Given the description of an element on the screen output the (x, y) to click on. 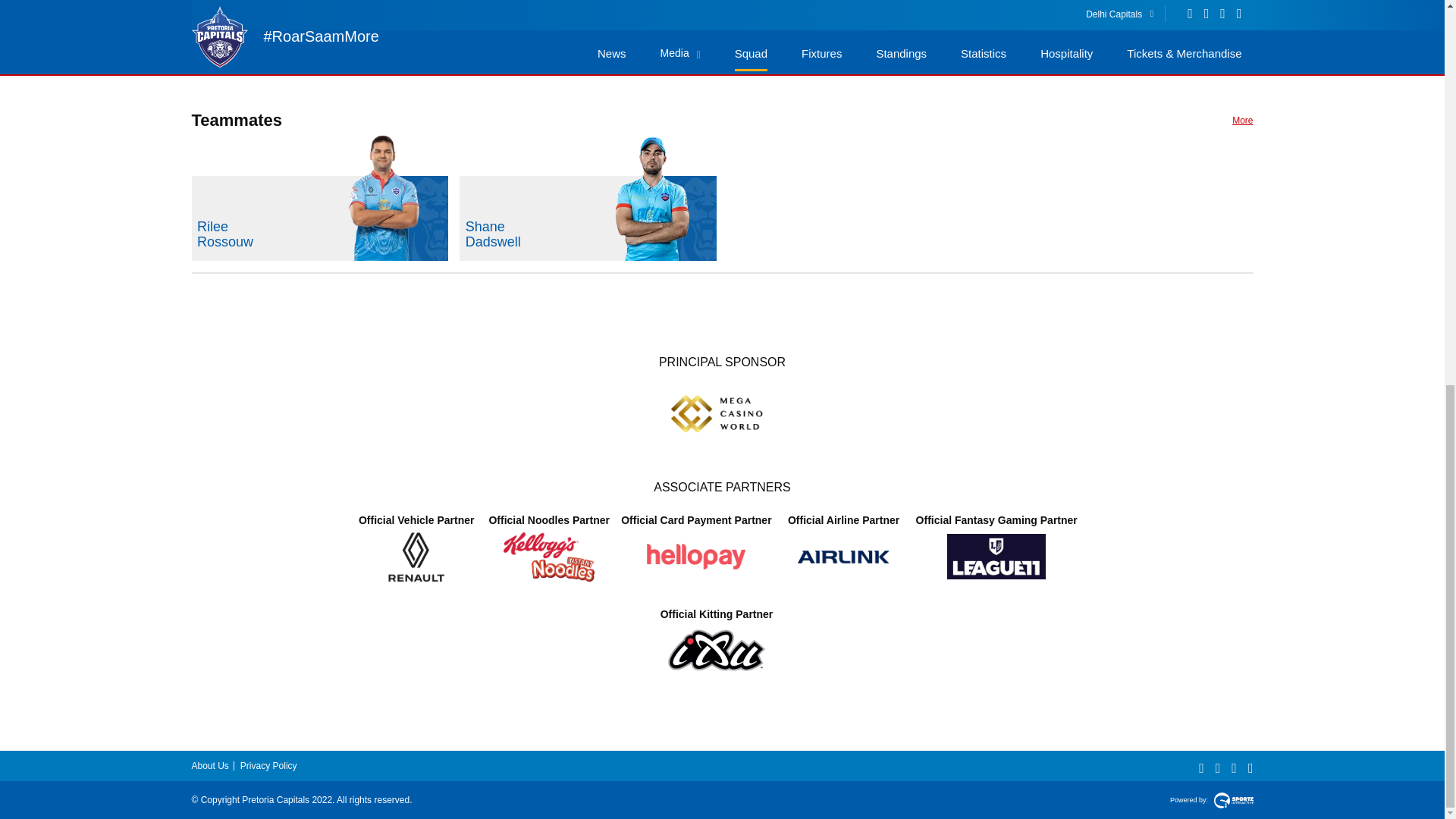
More (319, 217)
More (1241, 120)
Privacy Policy (1241, 120)
Sportz Interactive (268, 765)
About Us (1232, 799)
Privacy Policy (209, 765)
About Us (588, 217)
